Given the description of an element on the screen output the (x, y) to click on. 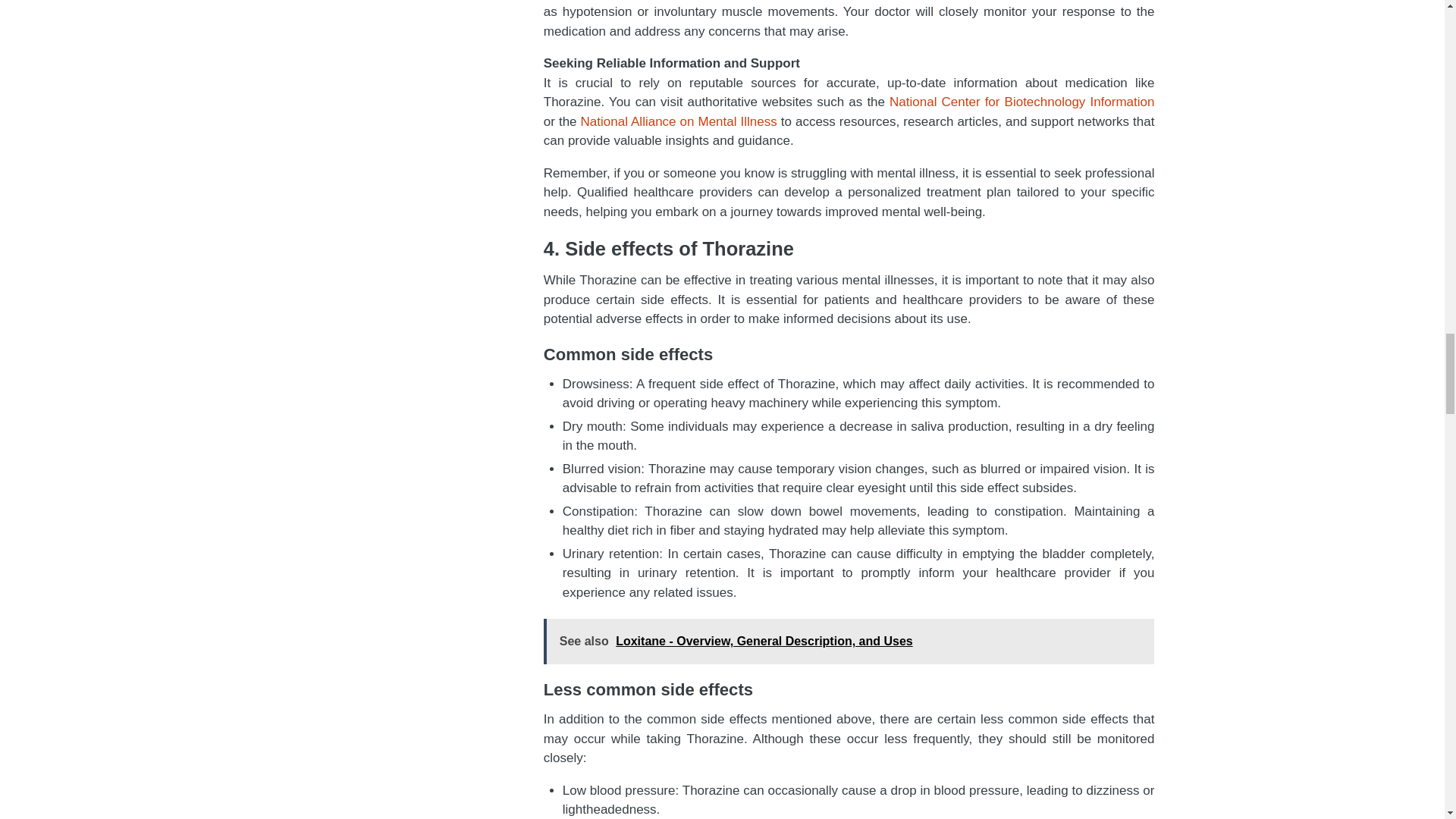
National Center for Biotechnology Information (1021, 101)
See also  Loxitane - Overview, General Description, and Uses (848, 641)
National Alliance on Mental Illness (678, 121)
